Given the description of an element on the screen output the (x, y) to click on. 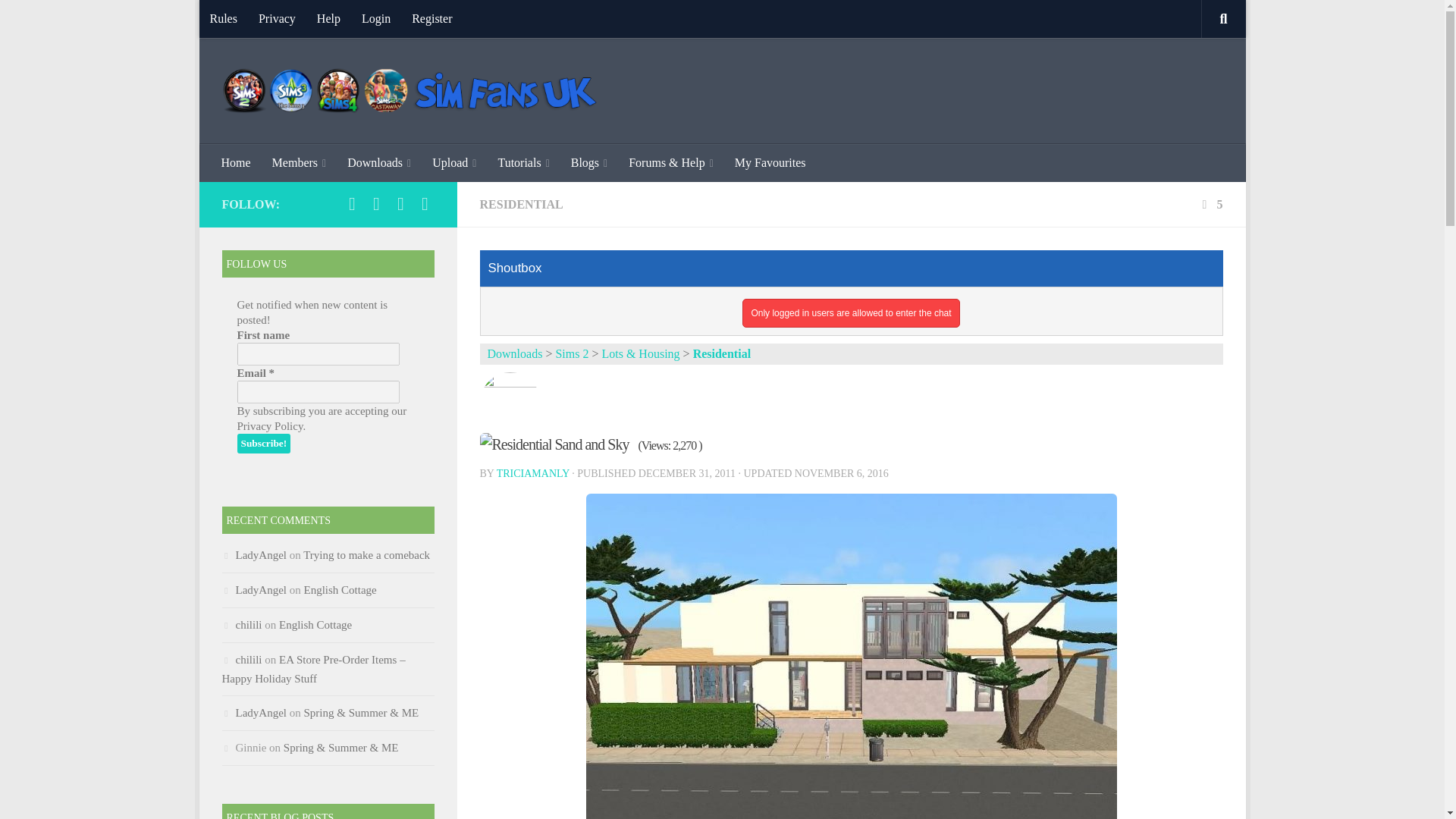
View our rules and terms (222, 18)
Login (375, 18)
Get help (327, 18)
Subscribe! (262, 443)
Register (432, 18)
View our privacy policy (276, 18)
Below content (255, 20)
